Given the description of an element on the screen output the (x, y) to click on. 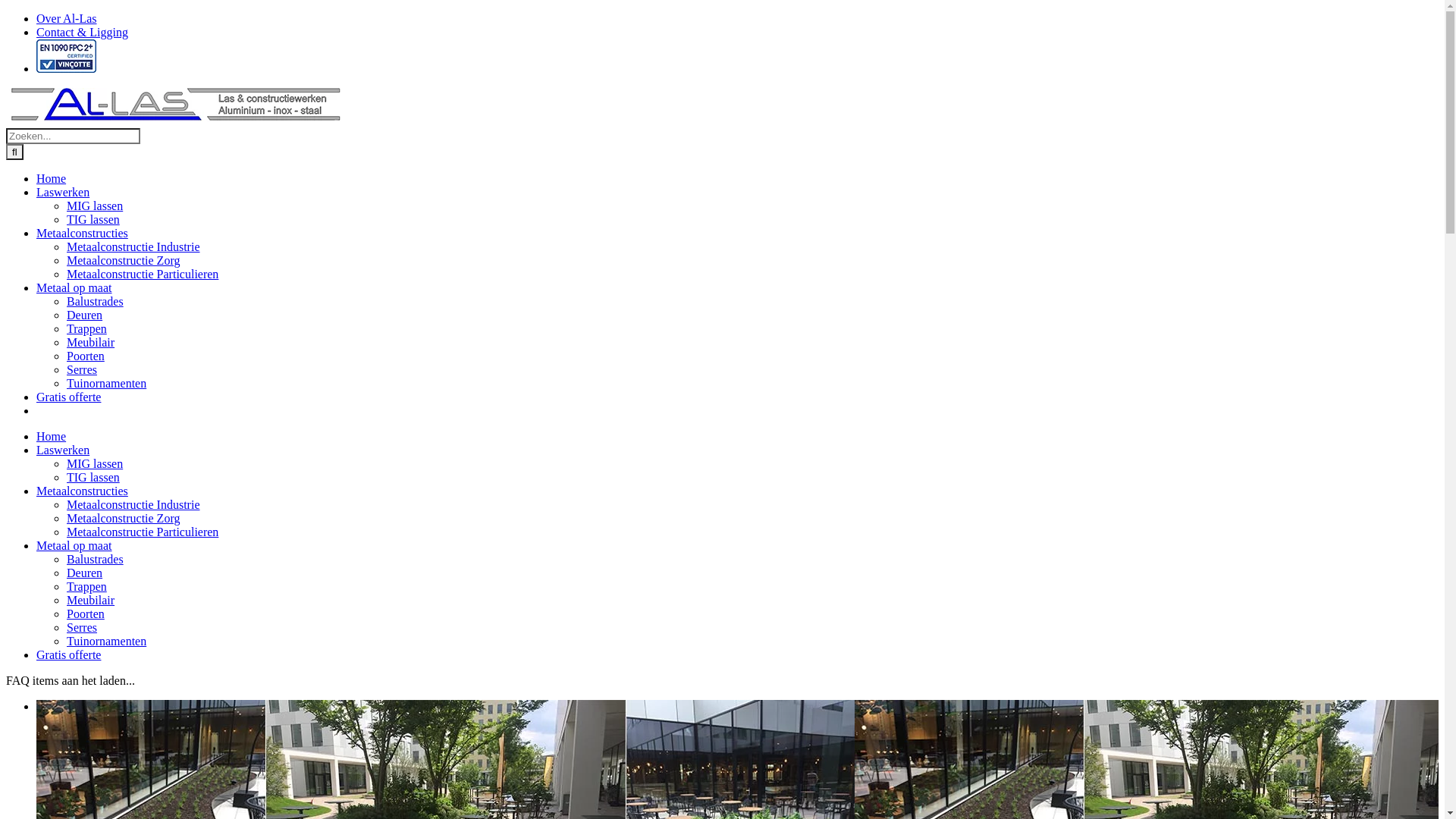
Gratis offerte Element type: text (68, 396)
Tuinornamenten Element type: text (106, 640)
MIG lassen Element type: text (94, 463)
Laswerken Element type: text (62, 449)
Metaalconstructie Zorg Element type: text (122, 517)
Over Al-Las Element type: text (66, 18)
TIG lassen Element type: text (92, 476)
MIG lassen Element type: text (94, 205)
Poorten Element type: text (85, 355)
Trappen Element type: text (86, 586)
Poorten Element type: text (85, 613)
Home Element type: text (50, 435)
Home Element type: text (50, 178)
Deuren Element type: text (84, 572)
Balustrades Element type: text (94, 300)
TIG lassen Element type: text (92, 219)
Metaalconstructie Particulieren Element type: text (142, 531)
Metaalconstructies Element type: text (82, 232)
Trappen Element type: text (86, 328)
Meubilair Element type: text (90, 599)
Serres Element type: text (81, 369)
Tuinornamenten Element type: text (106, 382)
Metaalconstructies Element type: text (82, 490)
Metaalconstructie Industrie Element type: text (133, 246)
Metaalconstructie Particulieren Element type: text (142, 273)
Skip to content Element type: text (5, 11)
Contact & Ligging Element type: text (82, 31)
Serres Element type: text (81, 627)
Meubilair Element type: text (90, 341)
Deuren Element type: text (84, 314)
Balustrades Element type: text (94, 558)
Metaal op maat Element type: text (74, 287)
Metaalconstructie Zorg Element type: text (122, 260)
Metaalconstructie Industrie Element type: text (133, 504)
Gratis offerte Element type: text (68, 654)
Laswerken Element type: text (62, 191)
Metaal op maat Element type: text (74, 545)
